Given the description of an element on the screen output the (x, y) to click on. 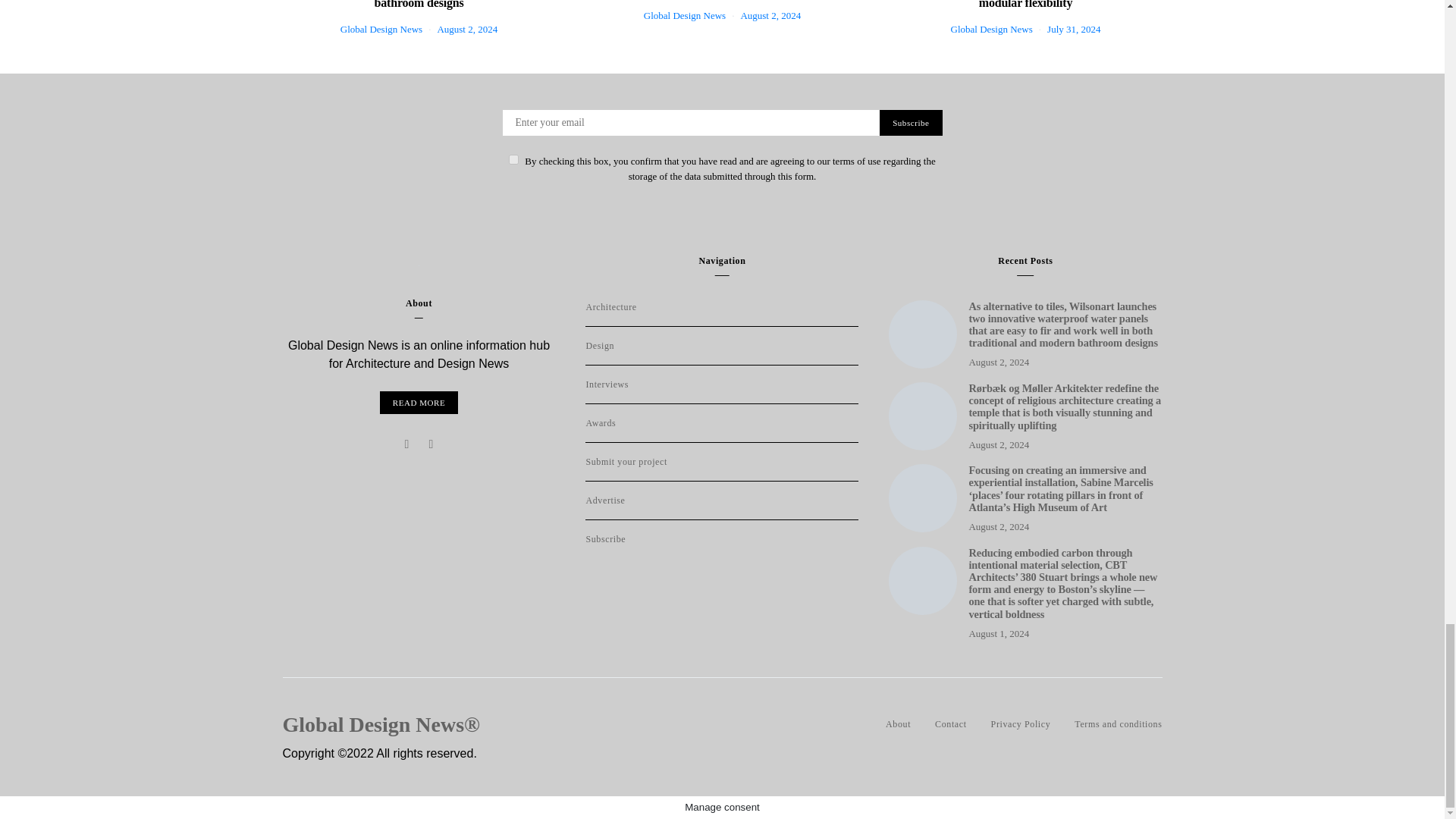
View all posts by Global Design News (684, 15)
on (513, 159)
View all posts by Global Design News (991, 29)
View all posts by Global Design News (381, 29)
